Given the description of an element on the screen output the (x, y) to click on. 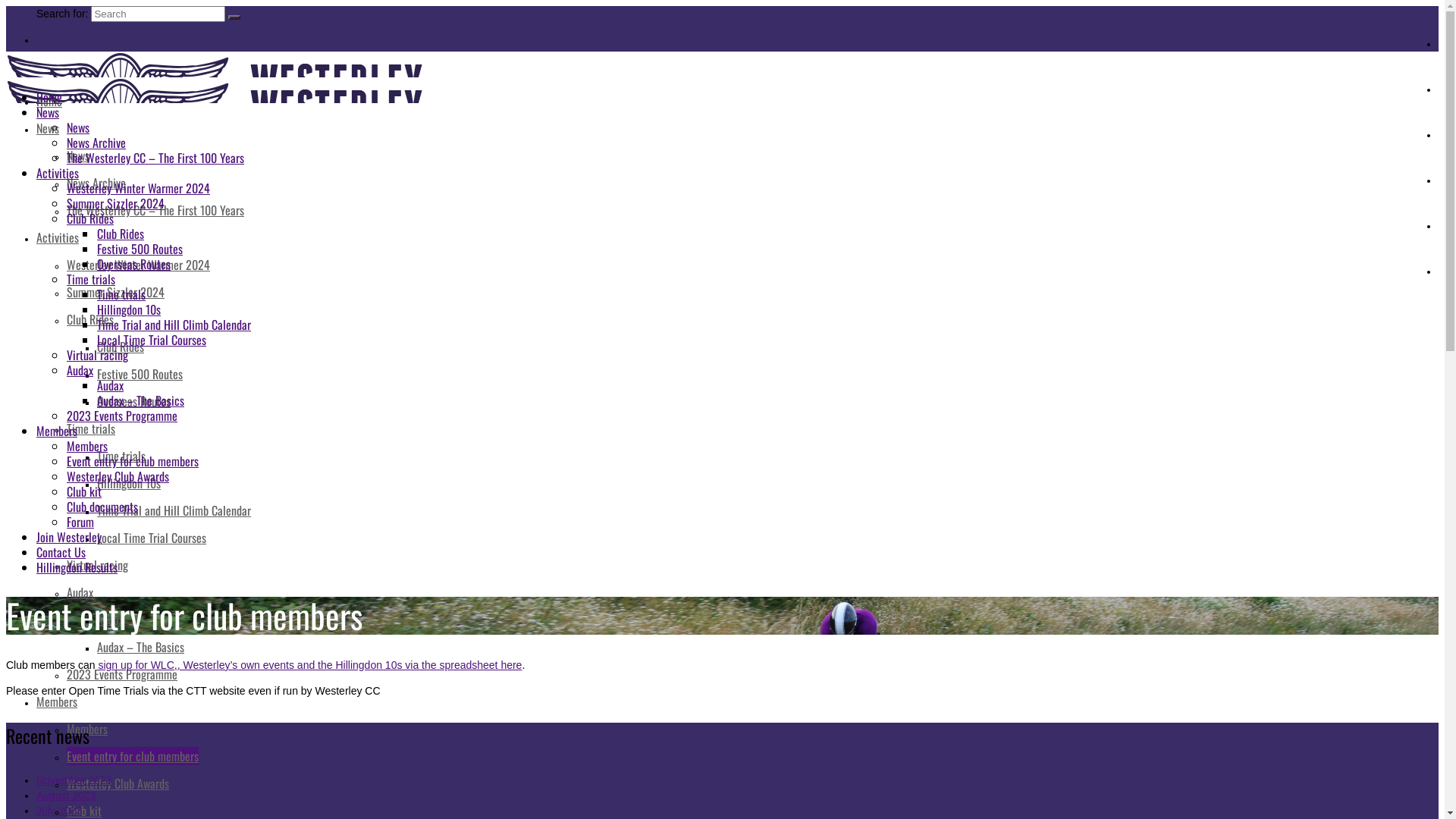
Audax Element type: text (79, 592)
2023 Events Programme Element type: text (121, 674)
Club Rides Element type: text (120, 233)
Members Element type: text (56, 701)
Event entry for club members Element type: text (132, 460)
July 2023 Element type: text (58, 810)
News Archive Element type: text (95, 182)
Overseas Routes Element type: text (133, 263)
Club Rides Element type: text (89, 319)
Forum Element type: text (80, 521)
Virtual racing Element type: text (97, 564)
Time Trial and Hill Climb Calendar Element type: text (174, 510)
Hillingdon Results Element type: text (76, 567)
Festive 500 Routes Element type: text (139, 373)
Local Time Trial Courses Element type: text (151, 339)
Members Element type: text (86, 445)
Westerley Club Awards Element type: text (117, 476)
News Archive Element type: text (95, 142)
Time trials Element type: text (121, 294)
Audax Element type: text (79, 369)
Summer Sizzler 2024 Element type: text (115, 291)
Activities Element type: text (57, 172)
August 2023 Element type: text (66, 795)
News Element type: text (47, 112)
Hillingdon 10s Element type: text (128, 309)
Club Rides Element type: text (120, 346)
Time trials Element type: text (90, 278)
Westerley Winter Warmer 2024 Element type: text (138, 187)
November 2023 Element type: text (74, 780)
Virtual racing Element type: text (97, 354)
Audax Element type: text (110, 619)
Overseas Routes Element type: text (133, 401)
News Element type: text (77, 127)
Members Element type: text (56, 430)
Audax Element type: text (110, 385)
Time trials Element type: text (121, 455)
Event entry for club members Element type: text (132, 755)
Local Time Trial Courses Element type: text (151, 537)
Westerley Club Awards Element type: text (117, 783)
Home Element type: text (49, 100)
Westerley Winter Warmer 2024 Element type: text (138, 264)
Contact Us Element type: text (60, 551)
News Element type: text (47, 128)
News Element type: text (77, 155)
Join Westerley Element type: text (68, 536)
Club Rides Element type: text (89, 218)
Hillingdon 10s Element type: text (128, 482)
Members Element type: text (86, 728)
Time trials Element type: text (90, 428)
2023 Events Programme Element type: text (121, 415)
Summer Sizzler 2024 Element type: text (115, 203)
Home Element type: text (49, 96)
Club documents Element type: text (102, 506)
Festive 500 Routes Element type: text (139, 248)
Club kit Element type: text (83, 491)
Time Trial and Hill Climb Calendar Element type: text (174, 324)
Activities Element type: text (57, 237)
